Given the description of an element on the screen output the (x, y) to click on. 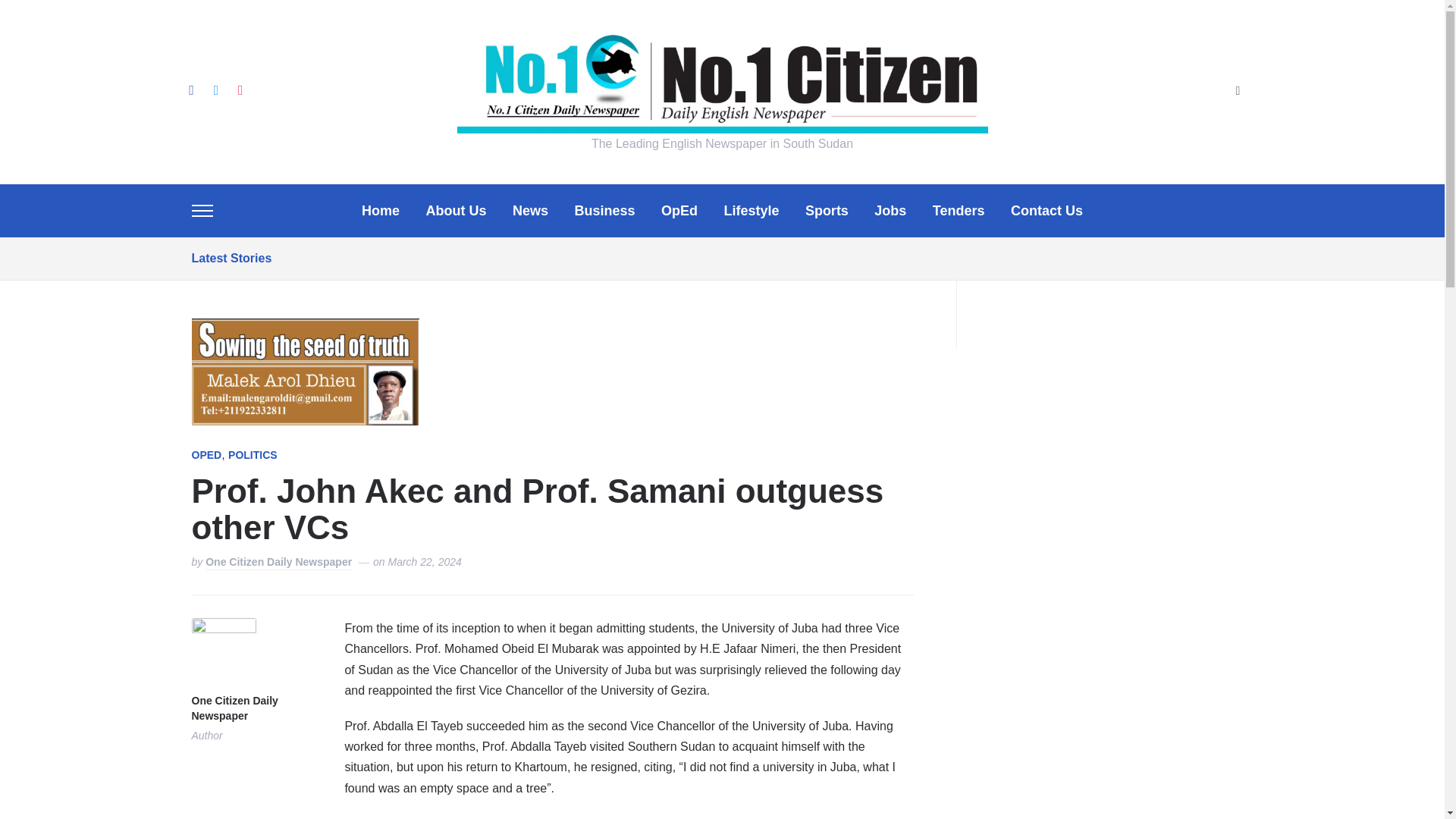
twitter (216, 88)
facebook (190, 88)
Home (379, 210)
Posts by One Citizen Daily Newspaper (255, 708)
Posts by One Citizen Daily Newspaper (278, 563)
Follow Me (216, 88)
Search (1237, 91)
Friend me on Facebook (190, 88)
instagram (239, 88)
